Given the description of an element on the screen output the (x, y) to click on. 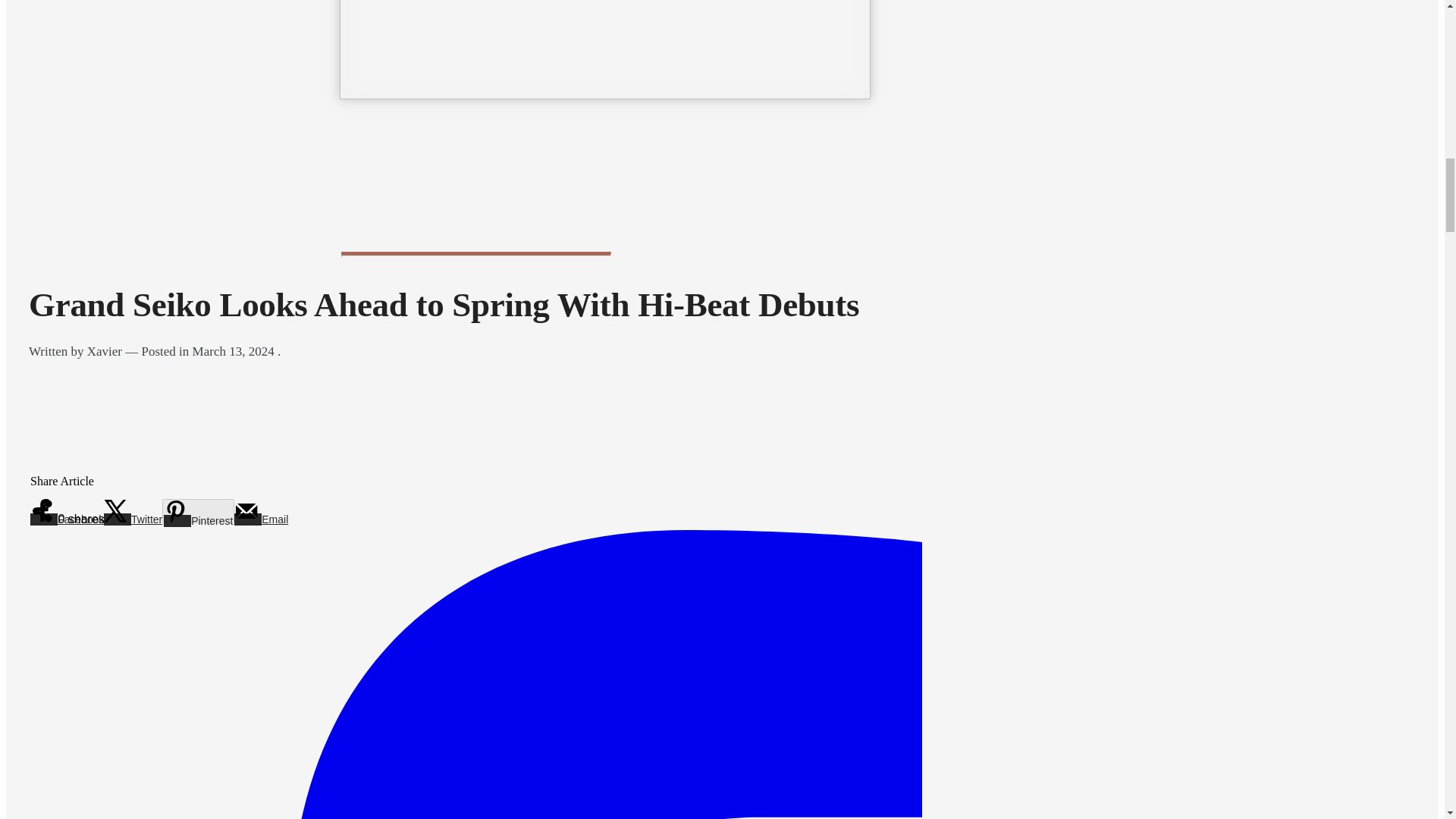
Facebook (66, 519)
Share on X (132, 519)
Twitter (132, 519)
Pinterest (197, 510)
Email (261, 519)
Save to Pinterest (197, 510)
Send over email (261, 519)
Share on Facebook (66, 519)
